Given the description of an element on the screen output the (x, y) to click on. 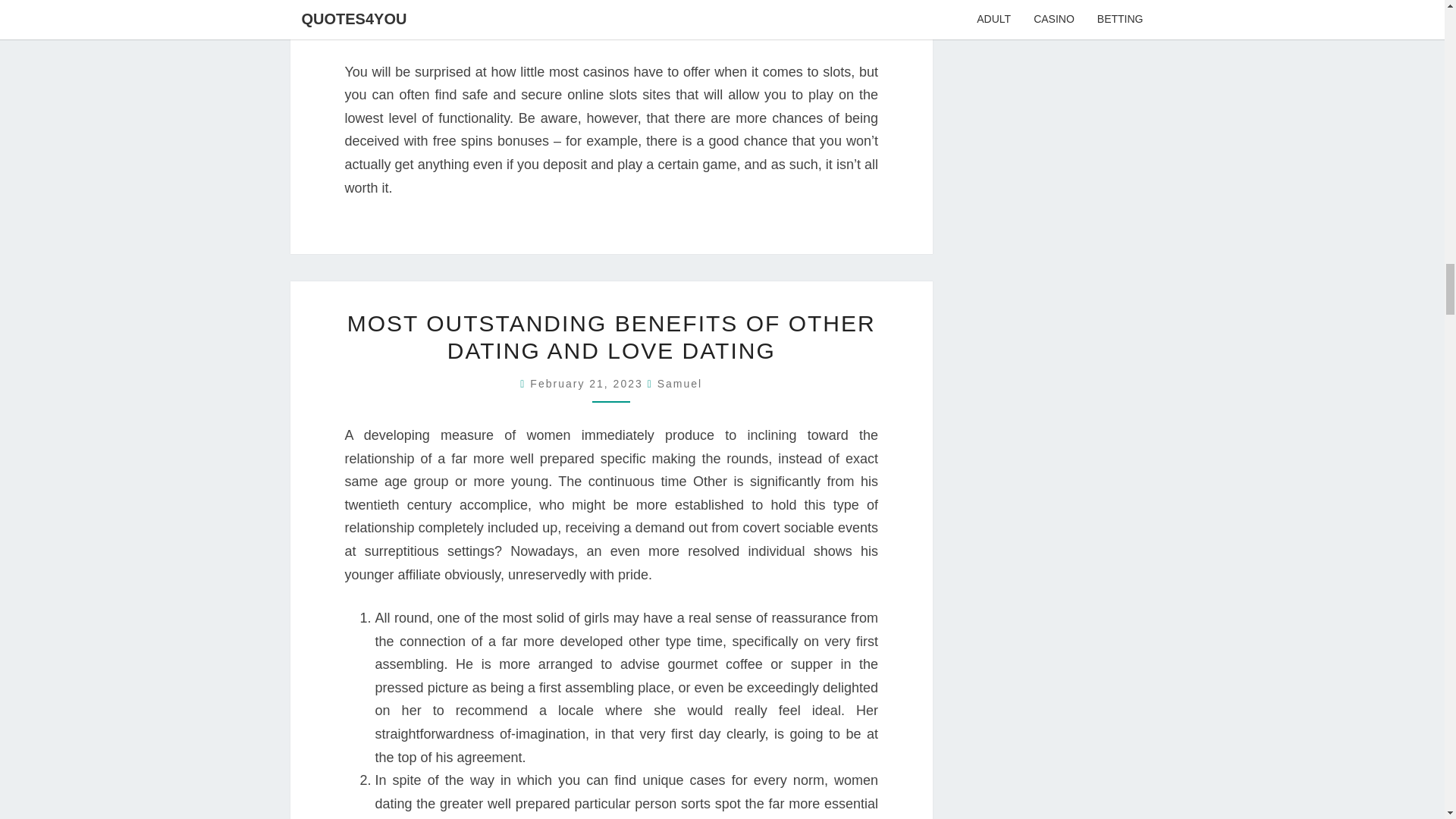
Samuel (679, 383)
MOST OUTSTANDING BENEFITS OF OTHER DATING AND LOVE DATING (611, 337)
View all posts by Samuel (679, 383)
5:07 am (587, 383)
February 21, 2023 (587, 383)
